Given the description of an element on the screen output the (x, y) to click on. 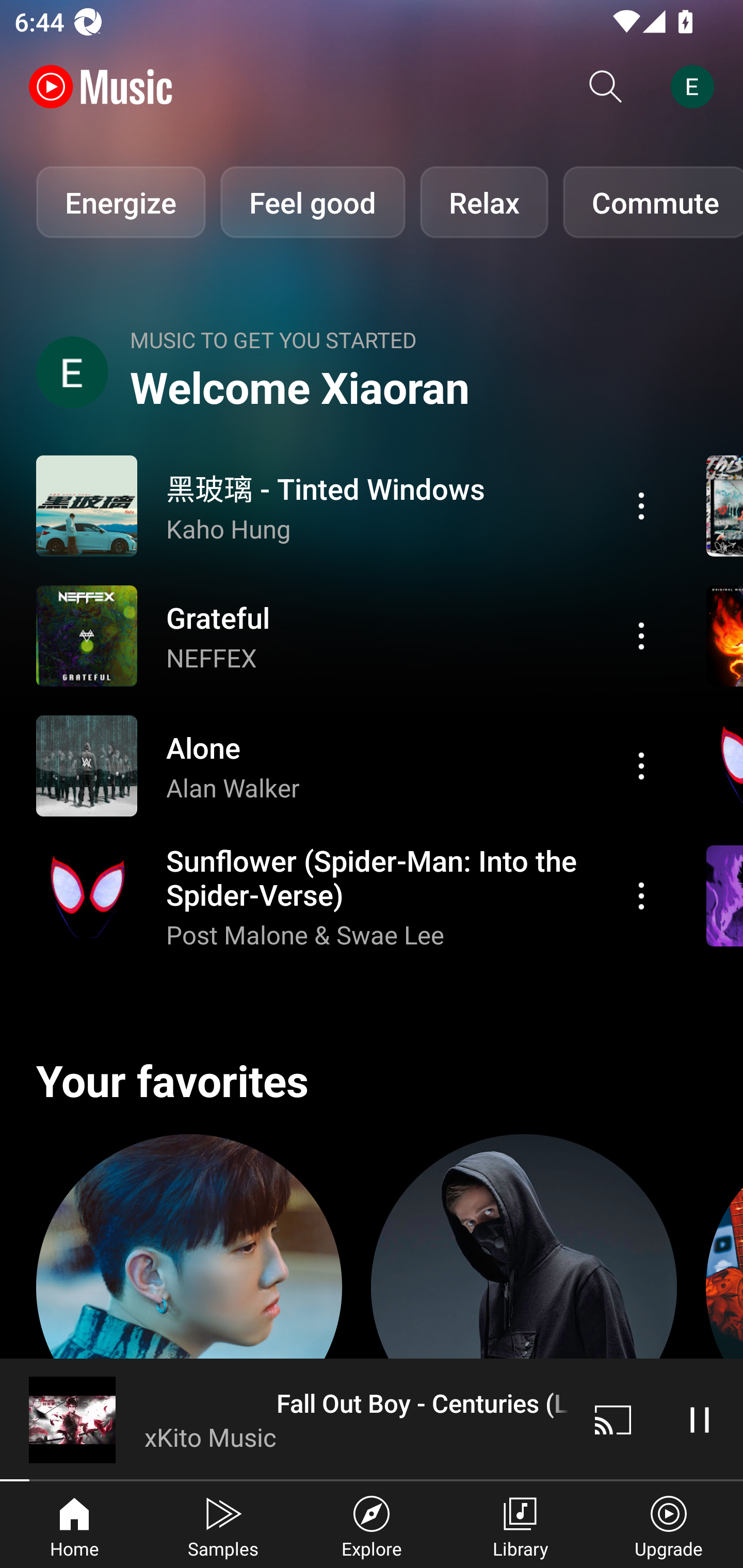
Search (605, 86)
Account (696, 86)
Action menu (349, 505)
Action menu (641, 505)
Action menu (349, 635)
Action menu (641, 635)
Action menu (349, 765)
Action menu (641, 765)
Action menu (349, 896)
Action menu (641, 896)
Fall Out Boy - Centuries (LEXIM Remix) xKito Music (284, 1419)
Cast. Disconnected (612, 1419)
Pause video (699, 1419)
Home (74, 1524)
Samples (222, 1524)
Explore (371, 1524)
Library (519, 1524)
Upgrade (668, 1524)
